Given the description of an element on the screen output the (x, y) to click on. 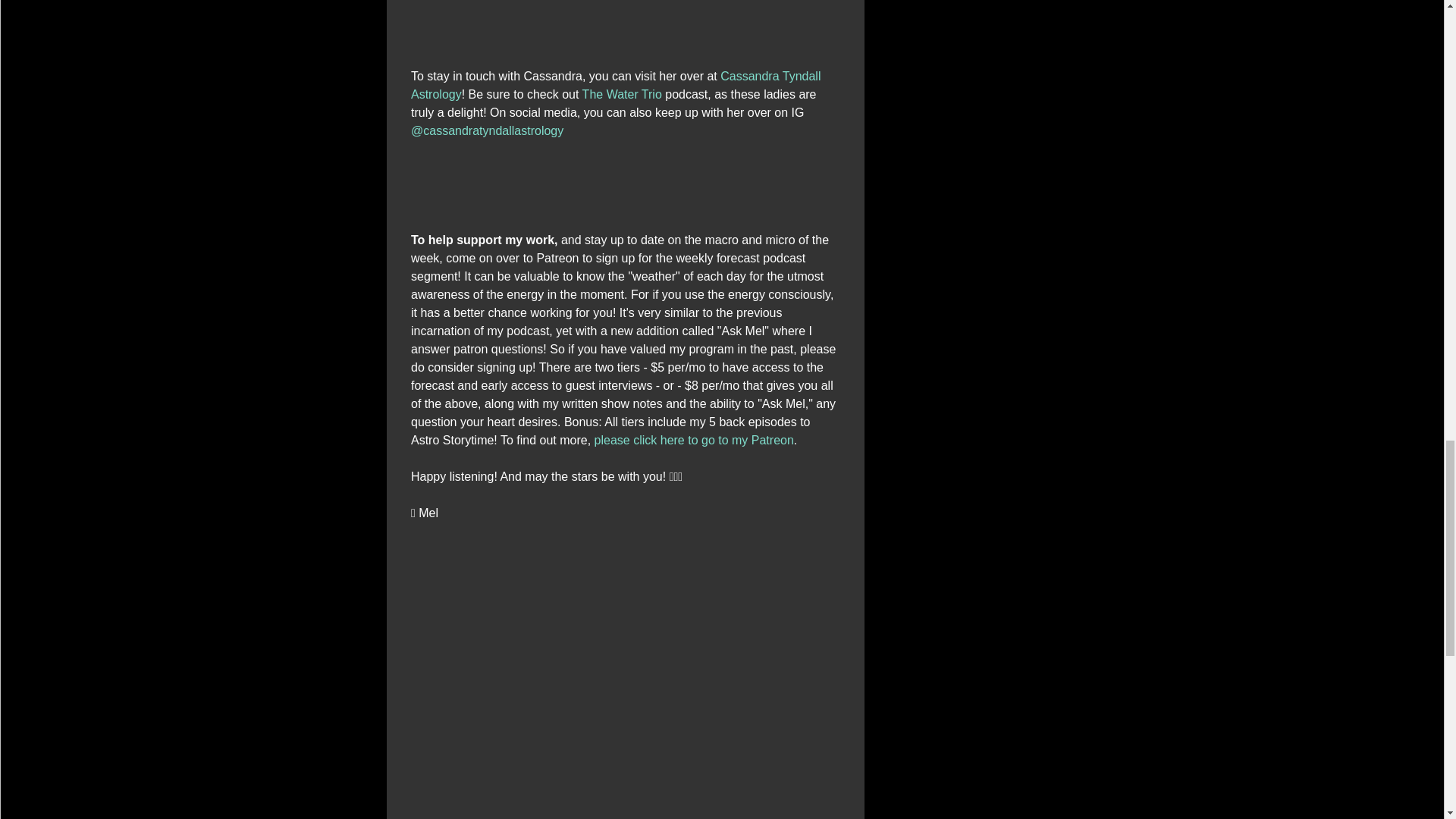
please click here to go to my Patreon (693, 440)
The Water Trio (620, 93)
Cassandra Tyndall Astrology (617, 84)
